Given the description of an element on the screen output the (x, y) to click on. 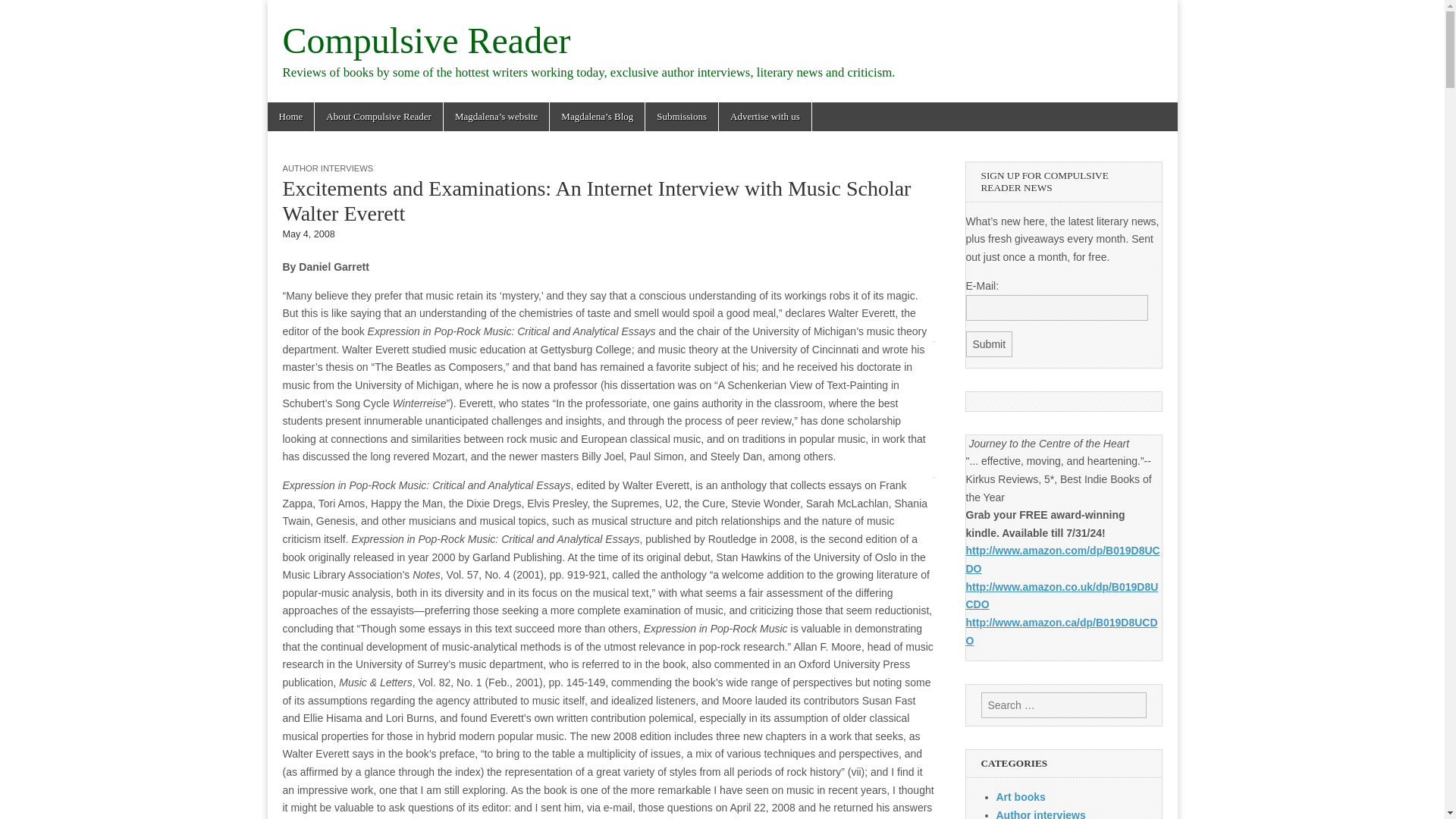
Author interviews (1040, 814)
Search (23, 12)
Submissions (681, 116)
AUTHOR INTERVIEWS (327, 167)
Submit (989, 344)
Submit (989, 344)
Art books (1020, 797)
Home (290, 116)
Compulsive Reader (426, 40)
Advertise with us (764, 116)
About Compulsive Reader (378, 116)
Compulsive Reader (426, 40)
